Given the description of an element on the screen output the (x, y) to click on. 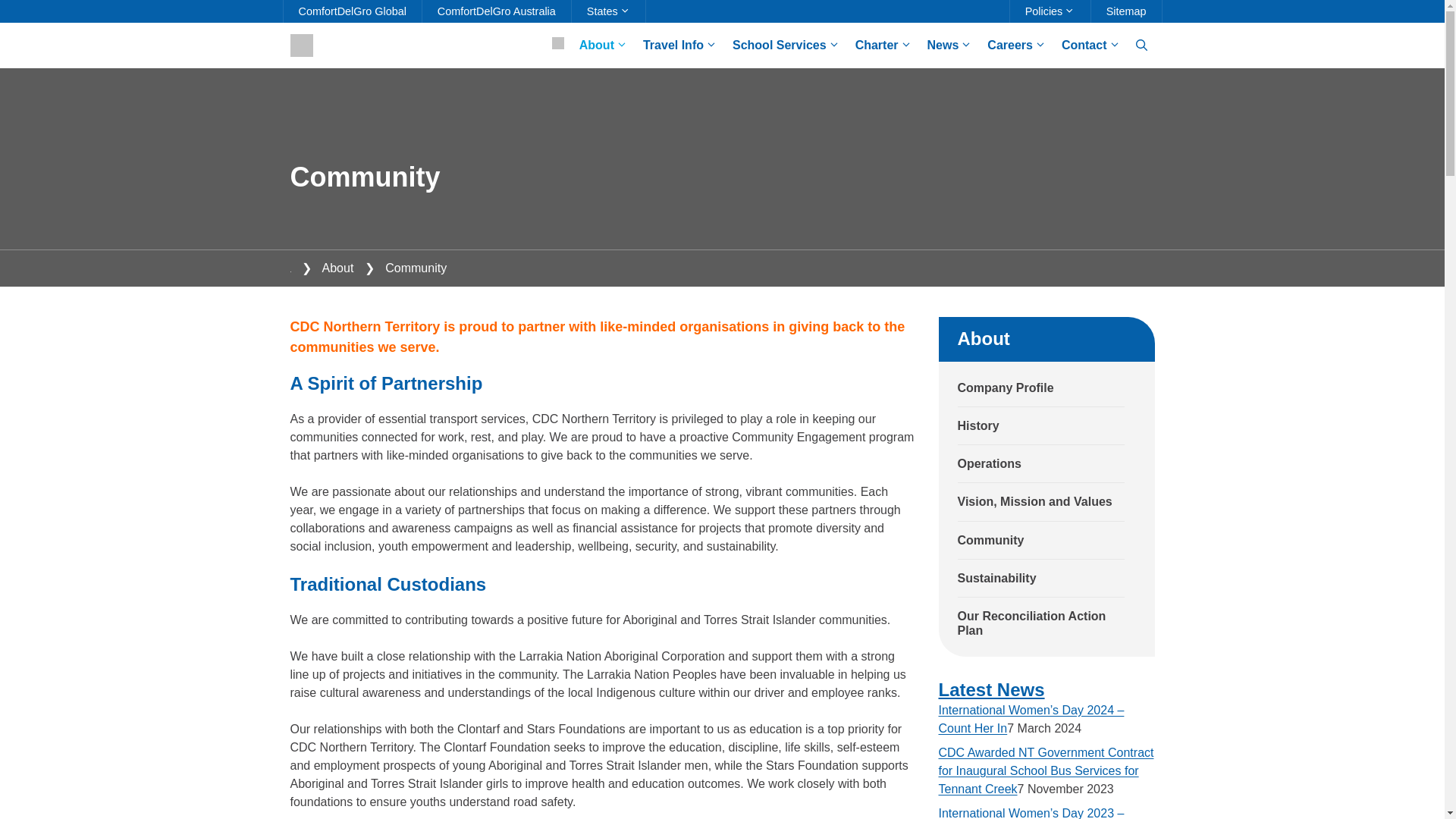
States (608, 11)
Sitemap (1125, 11)
ComfortDelGro Global (352, 11)
ComfortDelGro Australia (496, 11)
Policies (1050, 11)
